Given the description of an element on the screen output the (x, y) to click on. 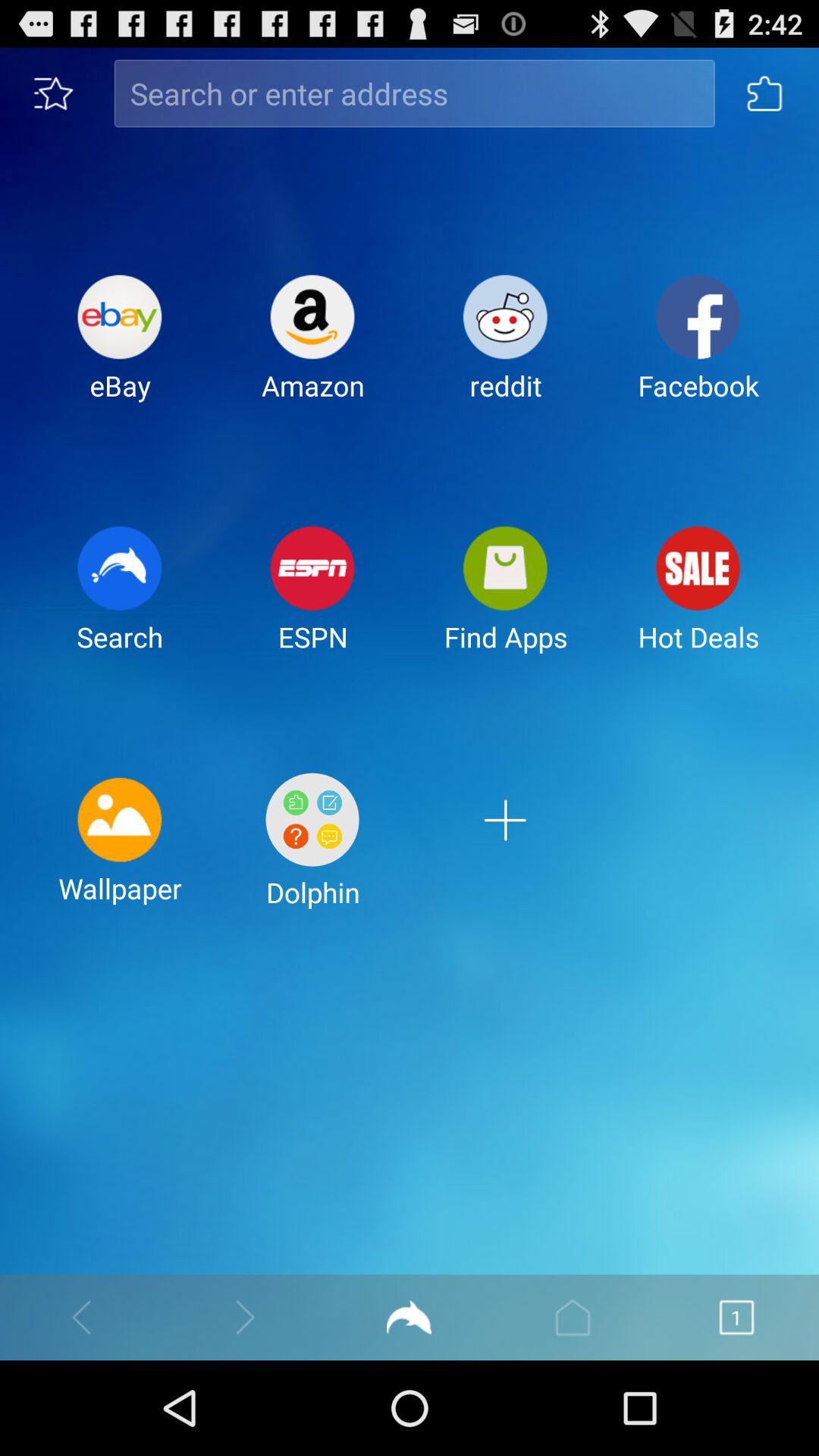
press the icon to the left of the amazon (119, 349)
